Given the description of an element on the screen output the (x, y) to click on. 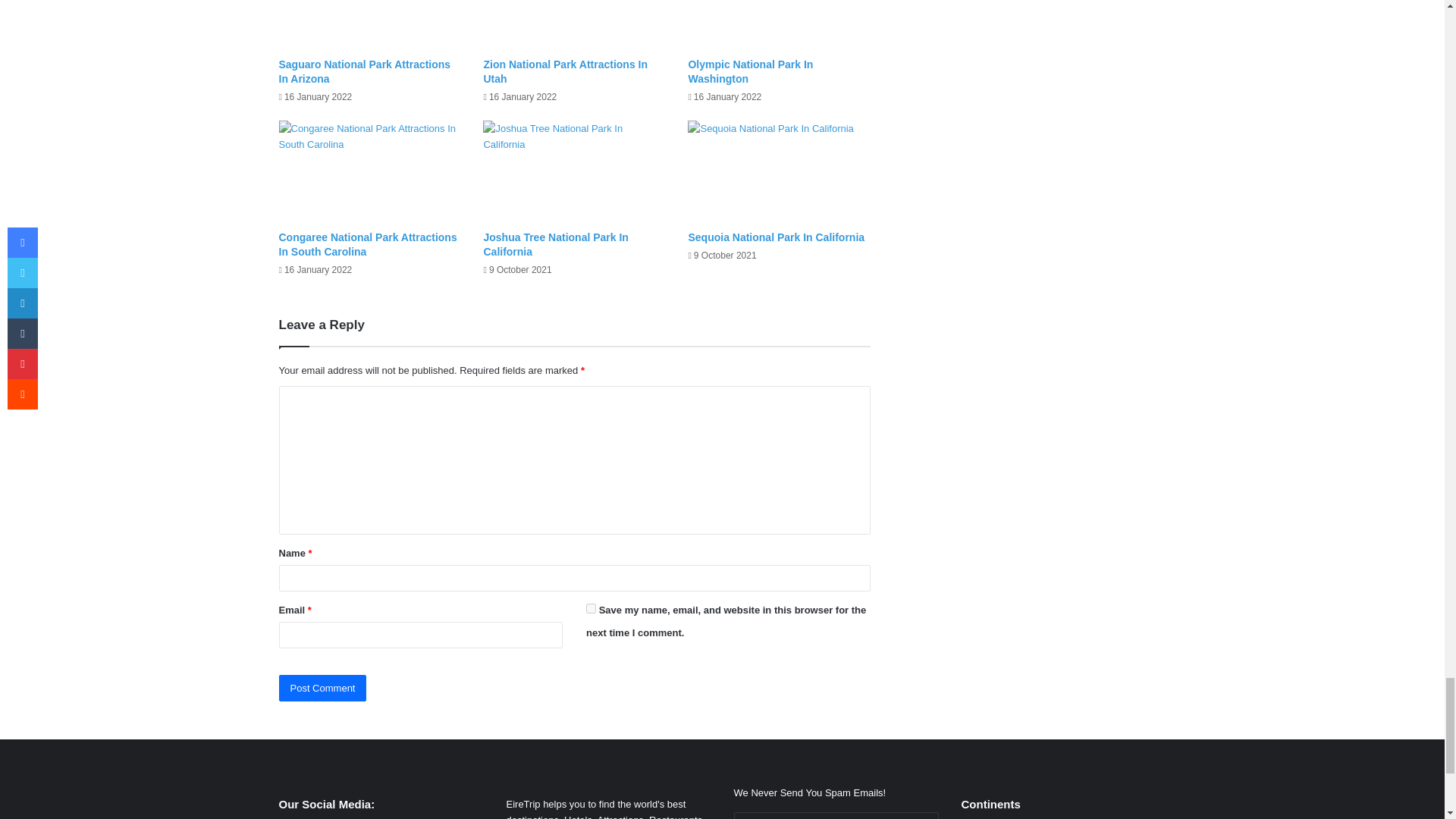
yes (590, 608)
Post Comment (322, 687)
